Given the description of an element on the screen output the (x, y) to click on. 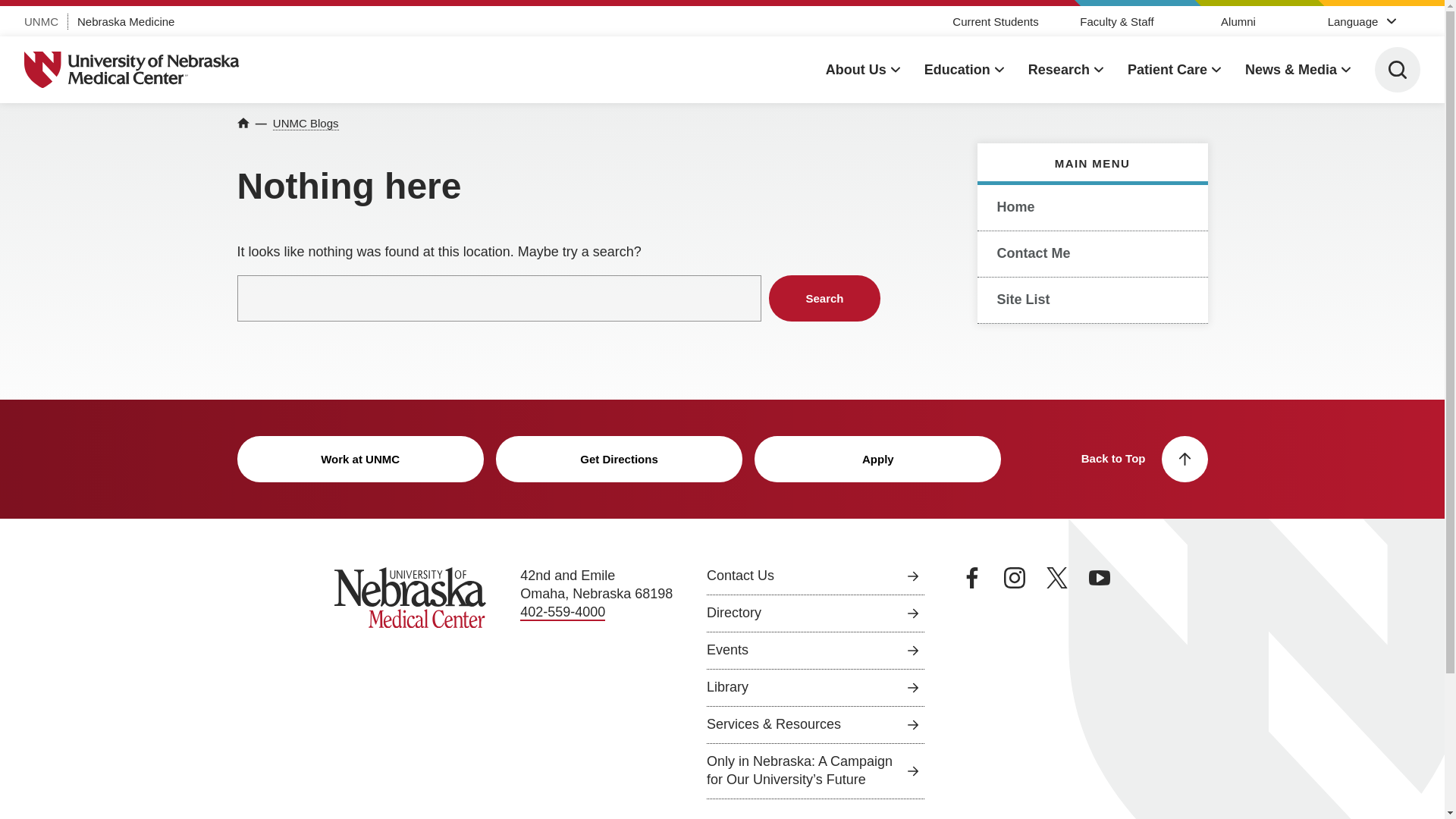
Back to Top (1144, 458)
Alumni (1238, 21)
About Us (862, 69)
Current Students (995, 21)
Language (1359, 20)
Nebraska Medicine (125, 21)
UNMC (41, 21)
University of Nebraska Medical Center (132, 69)
